Given the description of an element on the screen output the (x, y) to click on. 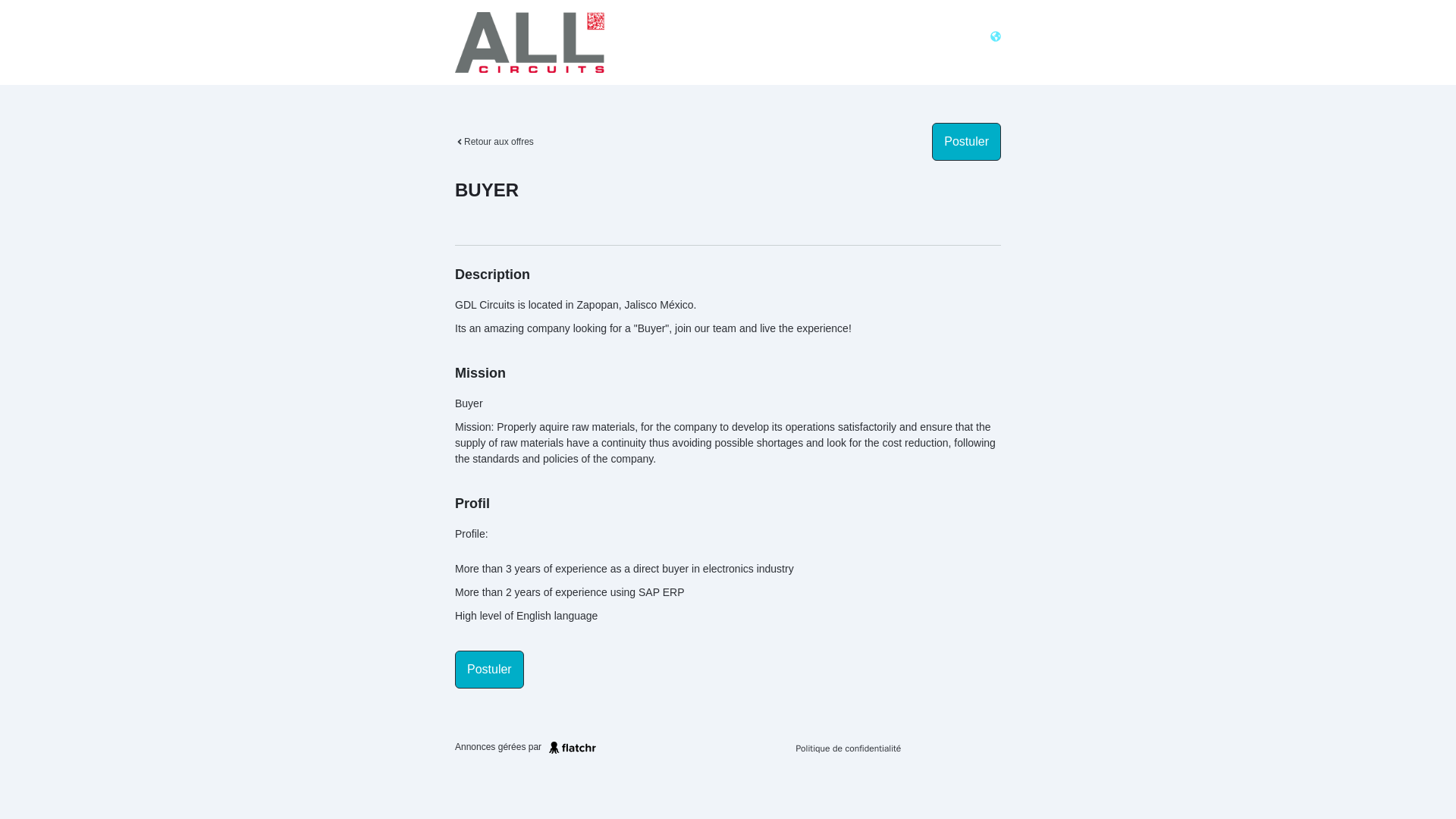
Retour aux offres (494, 141)
Postuler (966, 141)
Postuler (489, 669)
